Given the description of an element on the screen output the (x, y) to click on. 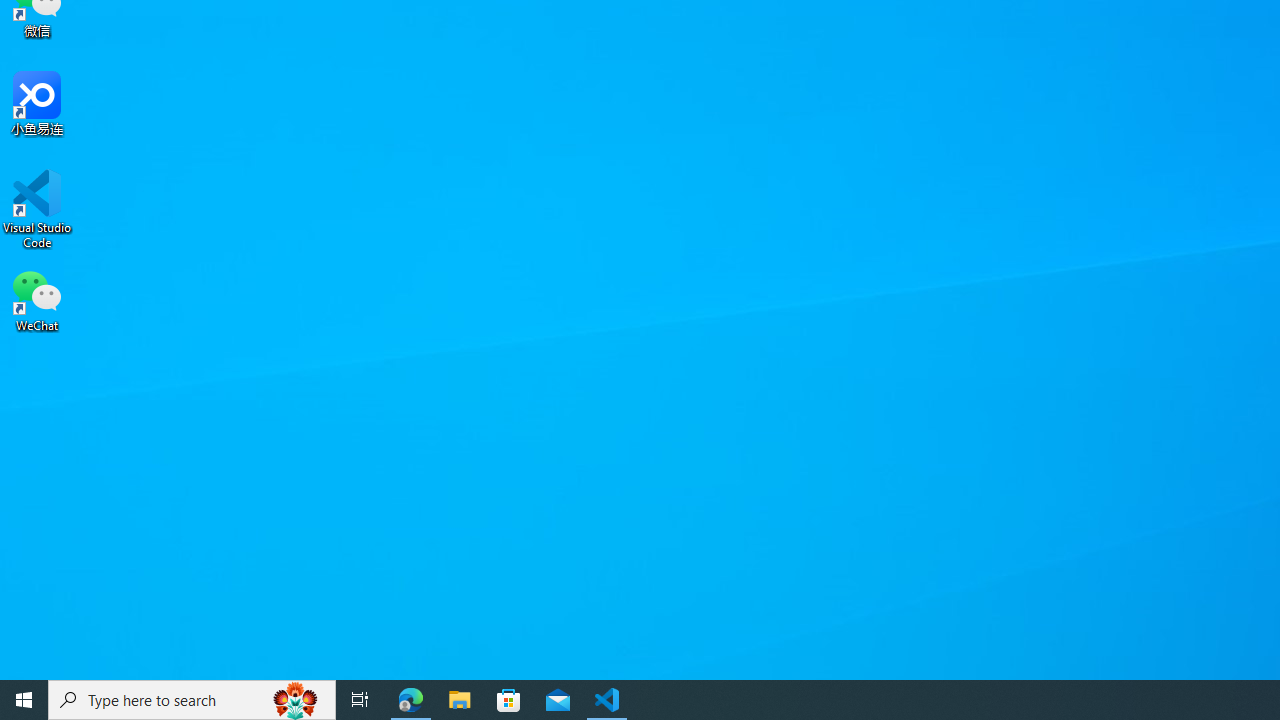
Visual Studio Code (37, 209)
Visual Studio Code - 1 running window (607, 699)
File Explorer (460, 699)
Type here to search (191, 699)
Microsoft Edge - 1 running window (411, 699)
Microsoft Store (509, 699)
WeChat (37, 299)
Search highlights icon opens search home window (295, 699)
Start (24, 699)
Task View (359, 699)
